Given the description of an element on the screen output the (x, y) to click on. 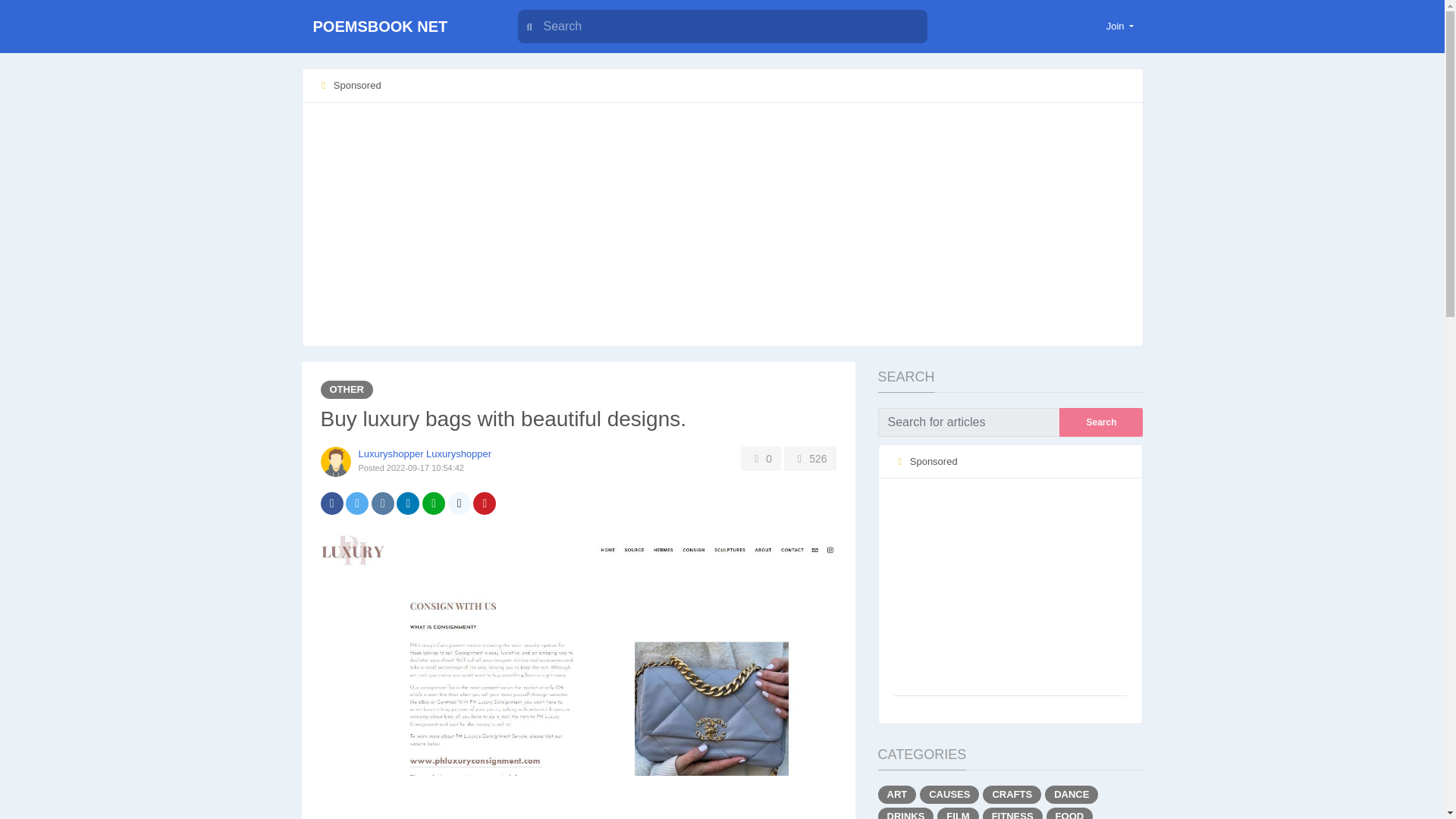
ART (897, 794)
Luxuryshopper Luxuryshopper (425, 453)
OTHER (346, 389)
Search (1100, 421)
POEMSBOOK NET (396, 26)
0 (760, 458)
Join (1119, 26)
